Given the description of an element on the screen output the (x, y) to click on. 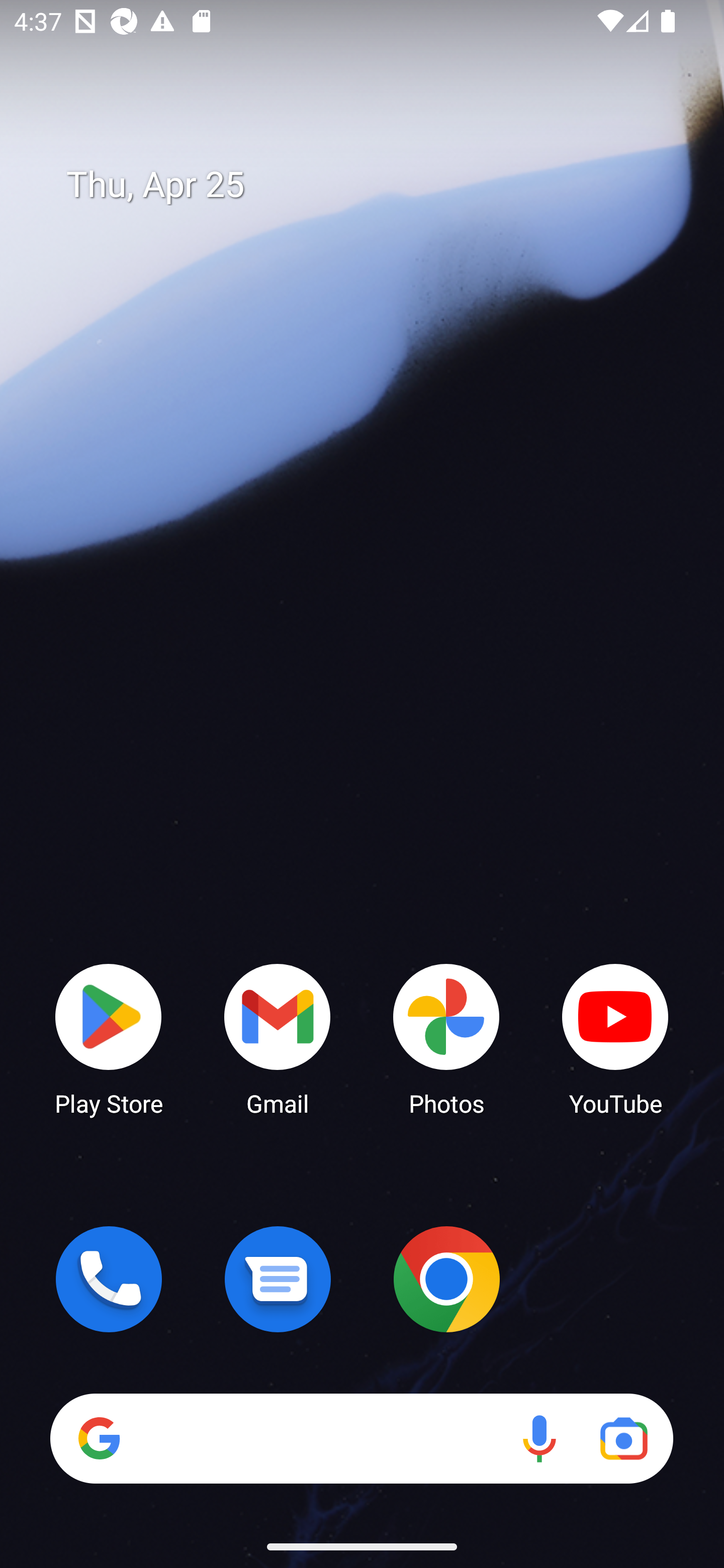
Thu, Apr 25 (375, 184)
Play Store (108, 1038)
Gmail (277, 1038)
Photos (445, 1038)
YouTube (615, 1038)
Phone (108, 1279)
Messages (277, 1279)
Chrome (446, 1279)
Search Voice search Google Lens (361, 1438)
Voice search (539, 1438)
Google Lens (623, 1438)
